Given the description of an element on the screen output the (x, y) to click on. 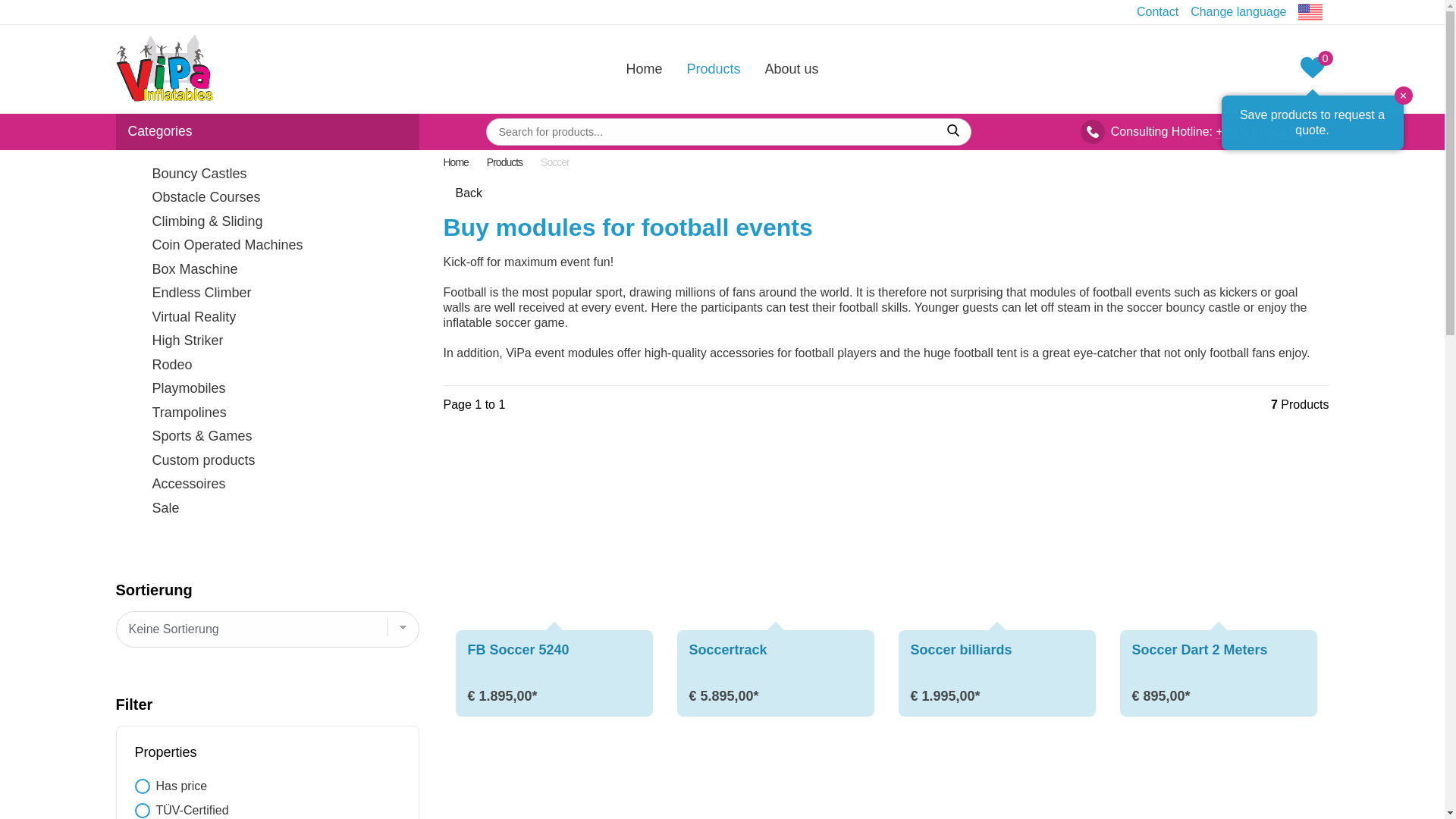
0 (1311, 68)
Endless Climber (266, 293)
Playmobiles (266, 388)
Sale (266, 508)
About us (791, 68)
Rodeo (266, 364)
Bouncy Castles (266, 174)
Trampolines (266, 413)
Accessoires (266, 484)
Coin Operated Machines (266, 245)
Virtual Reality (266, 317)
Obstacle Courses (266, 197)
Custom products (266, 460)
Contact (1157, 11)
High Striker (266, 340)
